Given the description of an element on the screen output the (x, y) to click on. 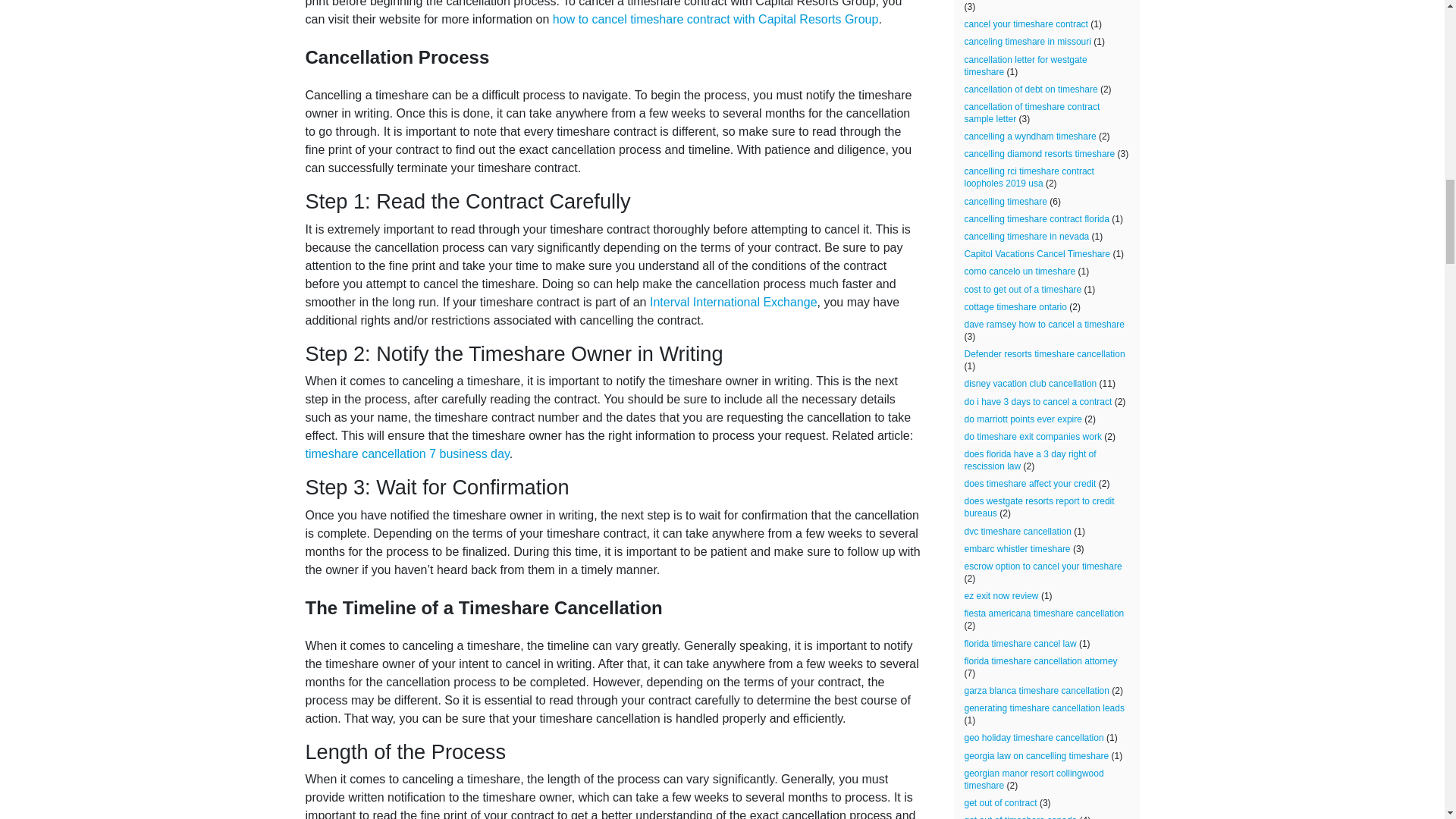
Interval International Exchange (732, 301)
timeshare cancellation 7 business day (406, 453)
how to cancel timeshare contract with Capital Resorts Group (716, 19)
